Given the description of an element on the screen output the (x, y) to click on. 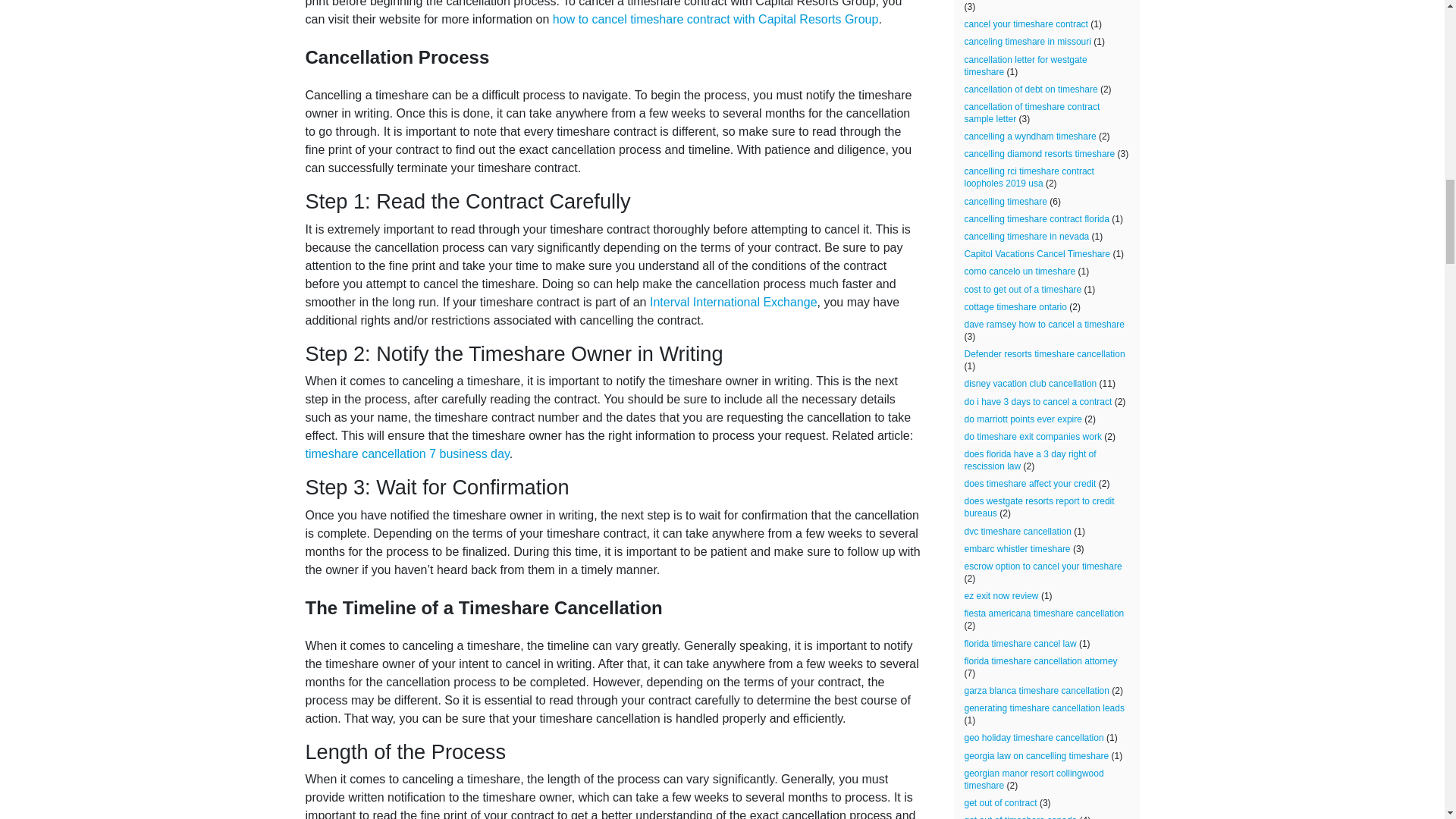
Interval International Exchange (732, 301)
timeshare cancellation 7 business day (406, 453)
how to cancel timeshare contract with Capital Resorts Group (716, 19)
